Given the description of an element on the screen output the (x, y) to click on. 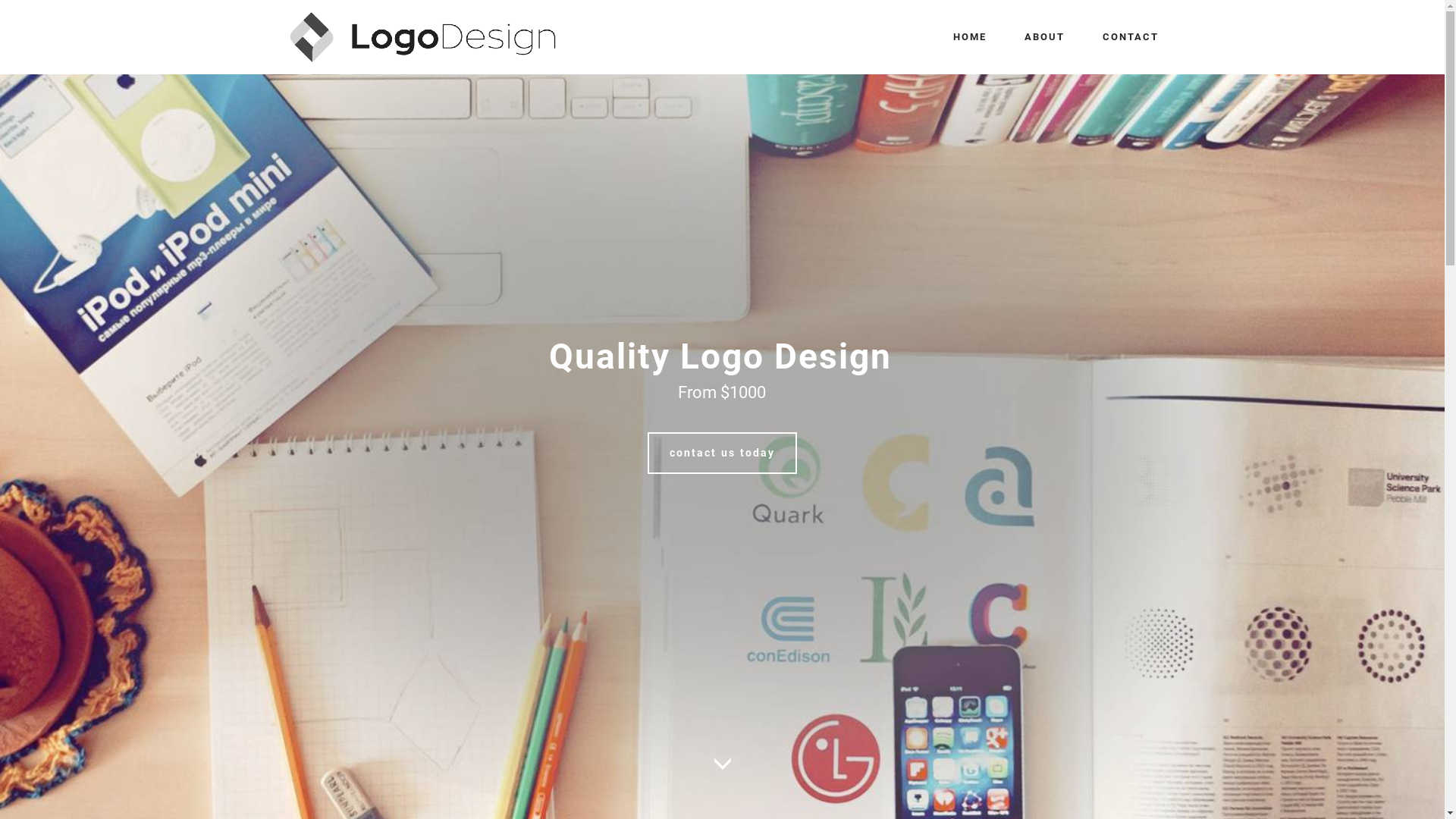
ABOUT Element type: text (1043, 36)
HOME Element type: text (969, 36)
CONTACT Element type: text (1130, 36)
contact us today Element type: text (722, 452)
